Given the description of an element on the screen output the (x, y) to click on. 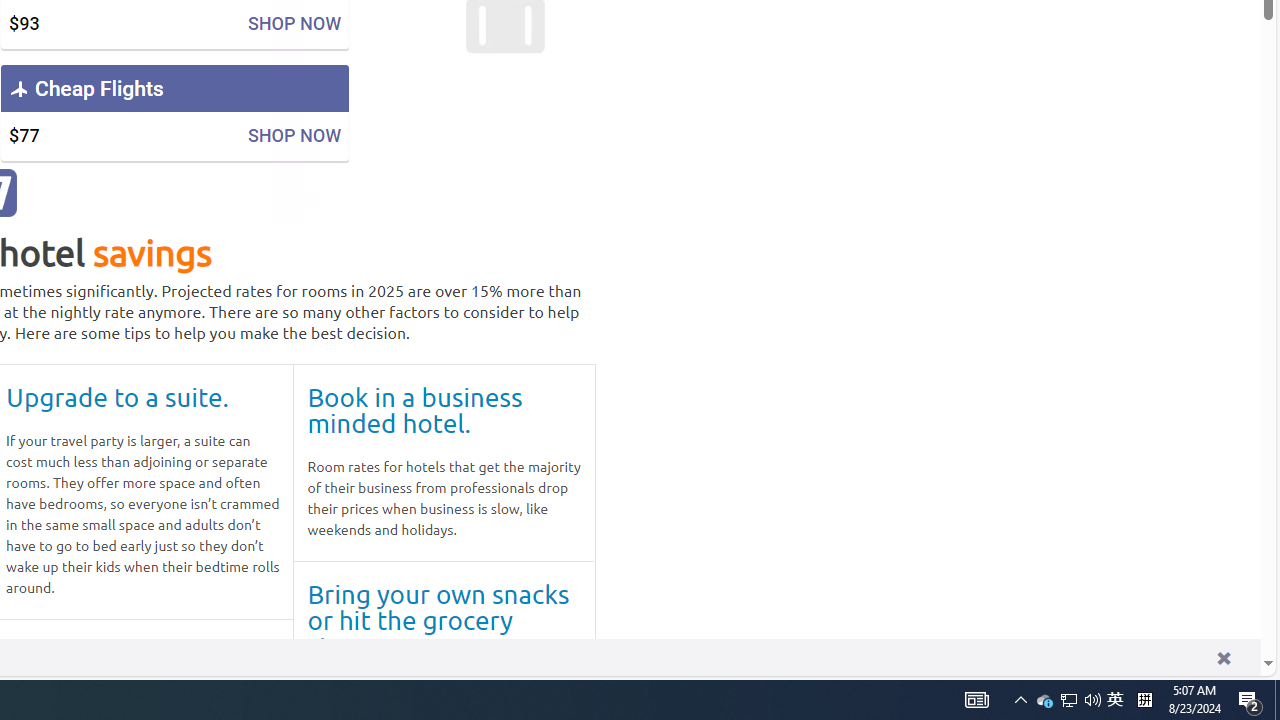
dismiss cookie message (1223, 657)
Cheap Flights $77 SHOP NOW (174, 112)
